Given the description of an element on the screen output the (x, y) to click on. 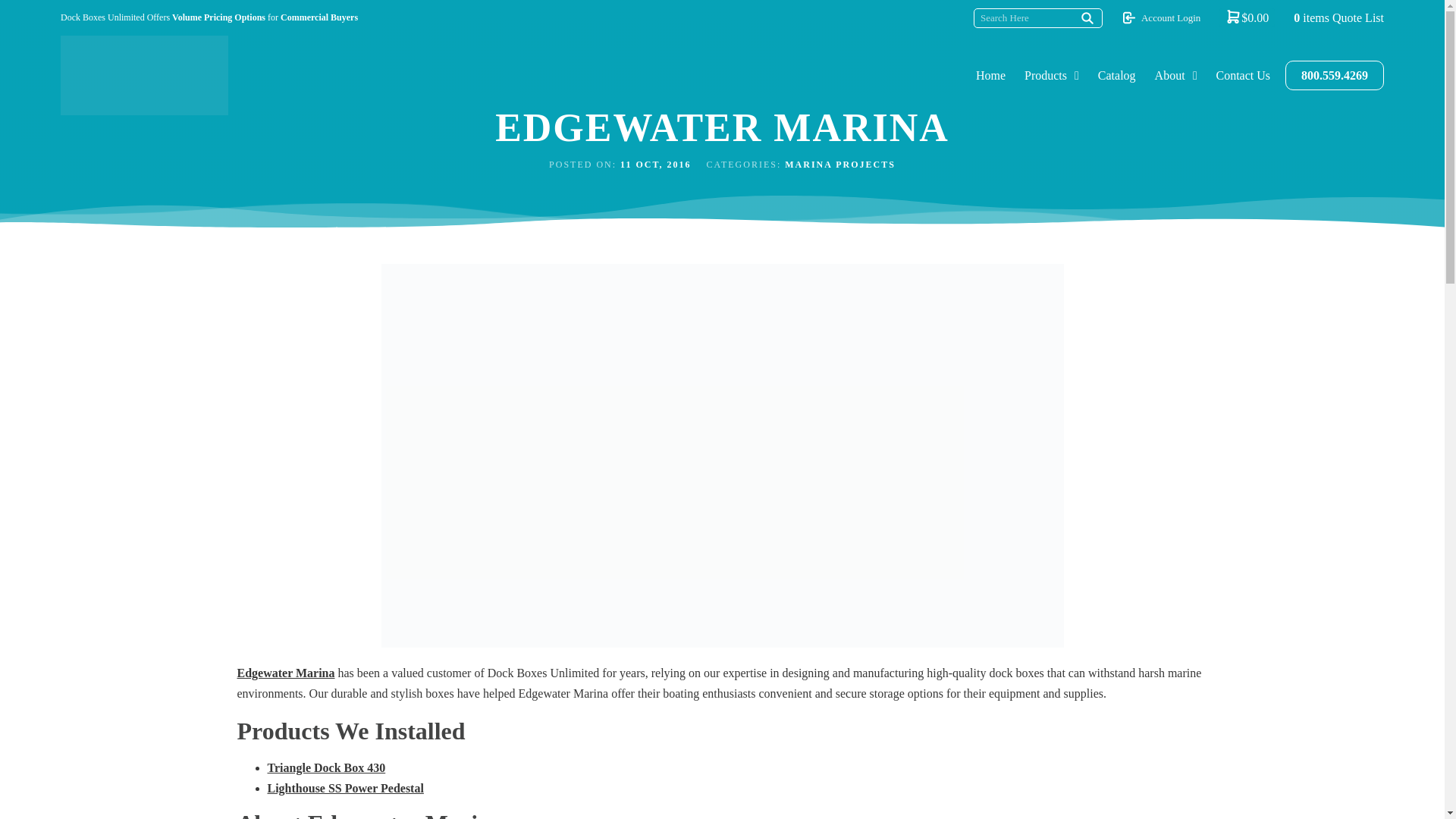
Products (1046, 75)
Home (990, 75)
View your shopping cart (1247, 17)
Account Login (1170, 17)
About (1169, 75)
Catalog (1116, 75)
Contact Us (1242, 75)
0 items Quote List (1339, 17)
